Given the description of an element on the screen output the (x, y) to click on. 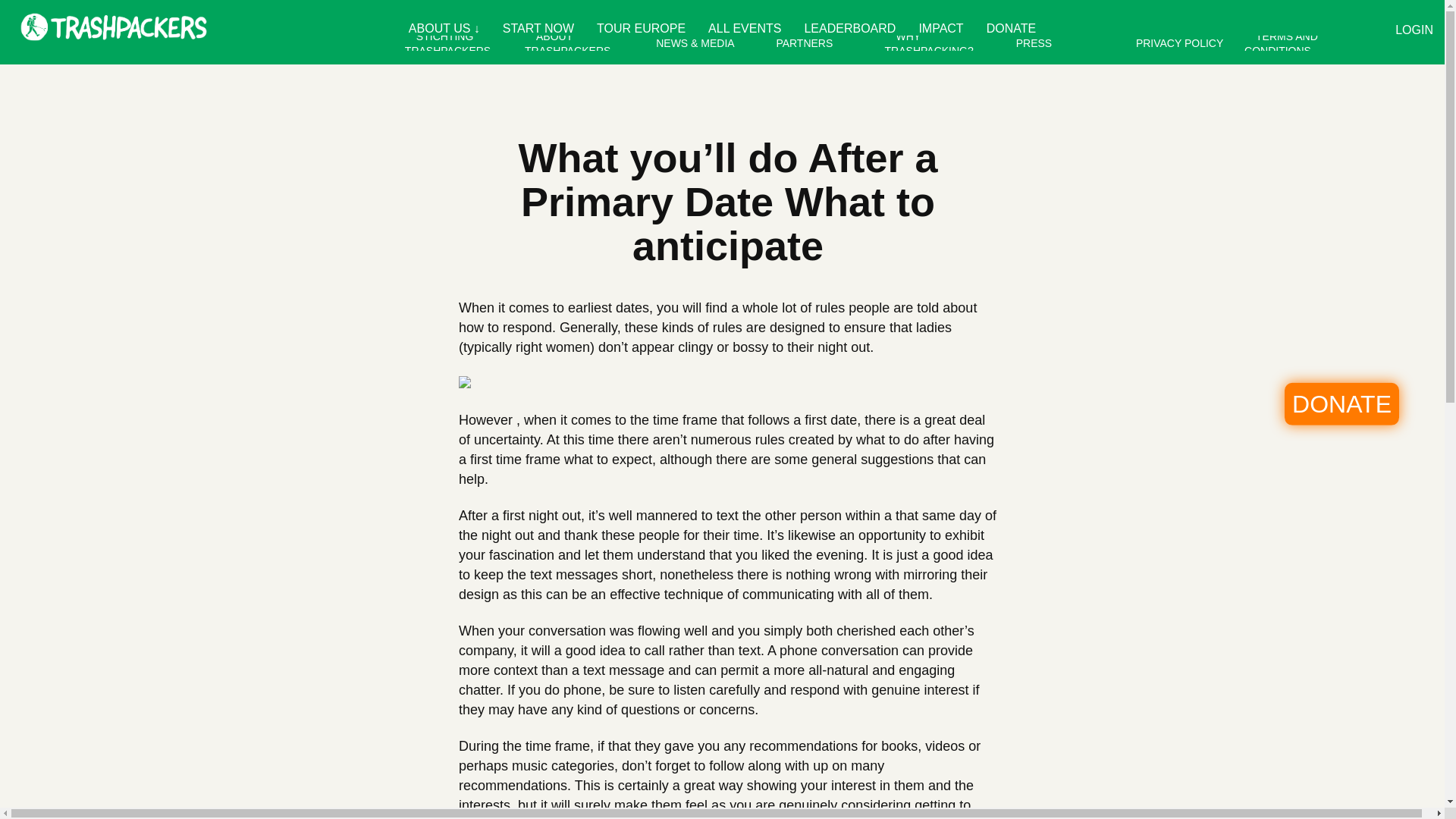
ABOUT TRASHPACKERS (572, 42)
ALL EVENTS (744, 27)
TERMS AND CONDITIONS (1283, 42)
PRIVACY POLICY (1179, 42)
DONATE (1010, 27)
WHY TRASHPACKING? (935, 42)
IMPACT (940, 27)
TOUR EUROPE (641, 27)
PARTNERS (804, 42)
PRESS (1033, 42)
LEADERBOARD (849, 27)
STICHTING TRASHPACKERS (453, 42)
LOGIN (1324, 30)
START NOW (538, 27)
